Given the description of an element on the screen output the (x, y) to click on. 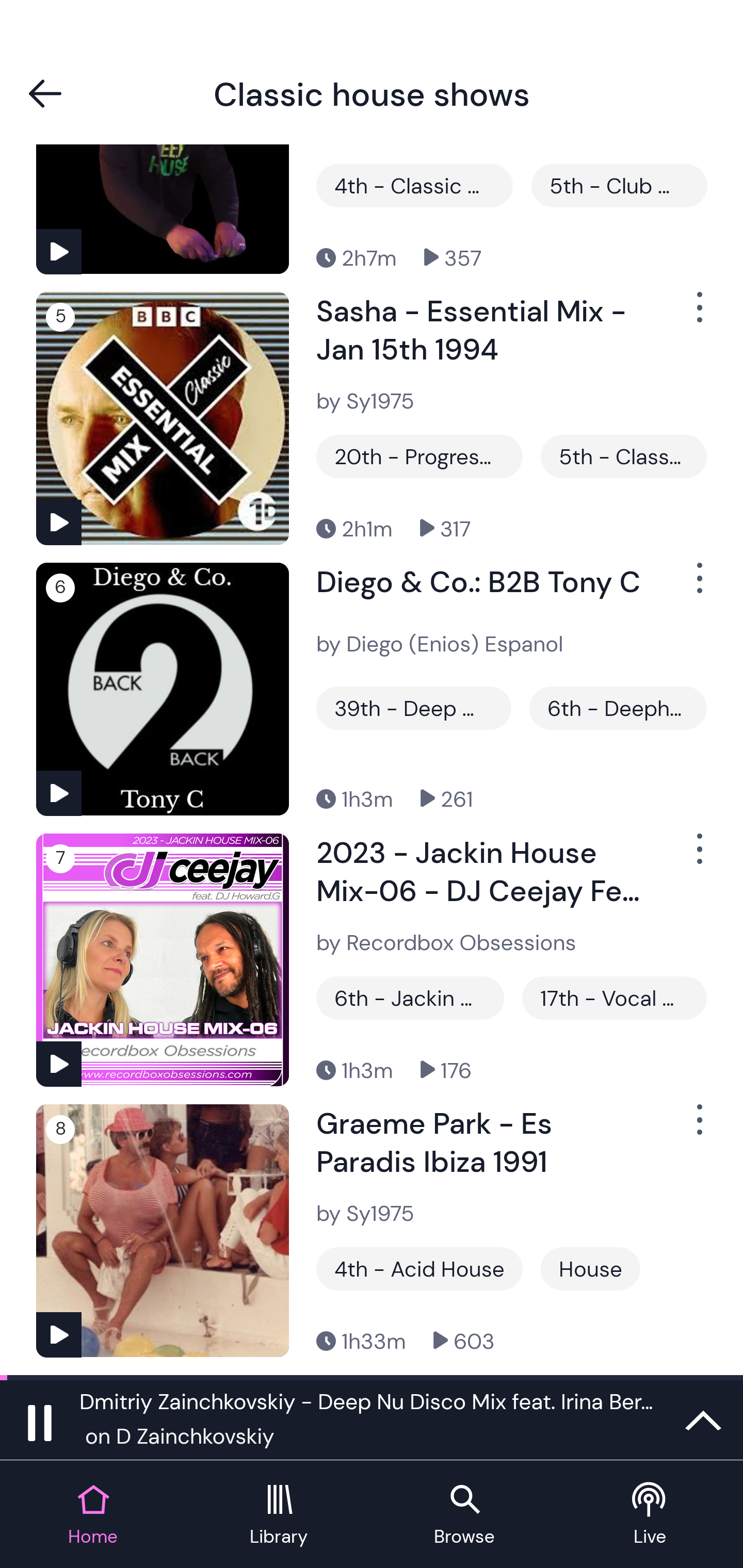
4th - Classic House (414, 185)
5th - Club House (618, 185)
Show Options Menu Button (697, 314)
20th - Progressive House (419, 456)
5th - Classic House (623, 456)
Show Options Menu Button (697, 585)
39th - Deep House (413, 707)
6th - Deephouse (617, 707)
Show Options Menu Button (697, 857)
6th - Jackin House (409, 997)
17th - Vocal House (614, 997)
Show Options Menu Button (697, 1126)
4th - Acid House (419, 1268)
House (590, 1268)
Home tab Home (92, 1515)
Library tab Library (278, 1515)
Browse tab Browse (464, 1515)
Live tab Live (650, 1515)
